Given the description of an element on the screen output the (x, y) to click on. 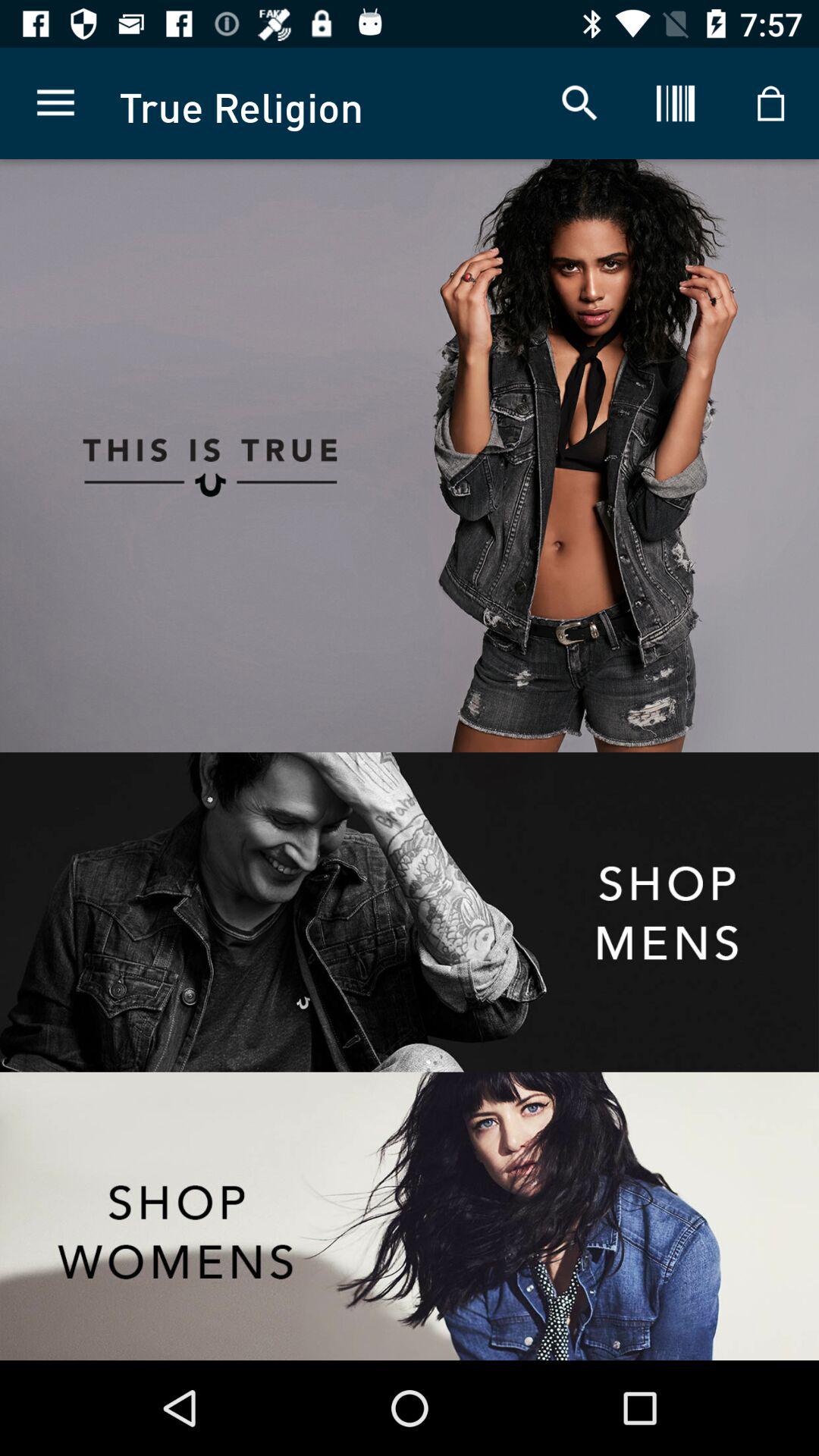
choose shop women (409, 1216)
